Given the description of an element on the screen output the (x, y) to click on. 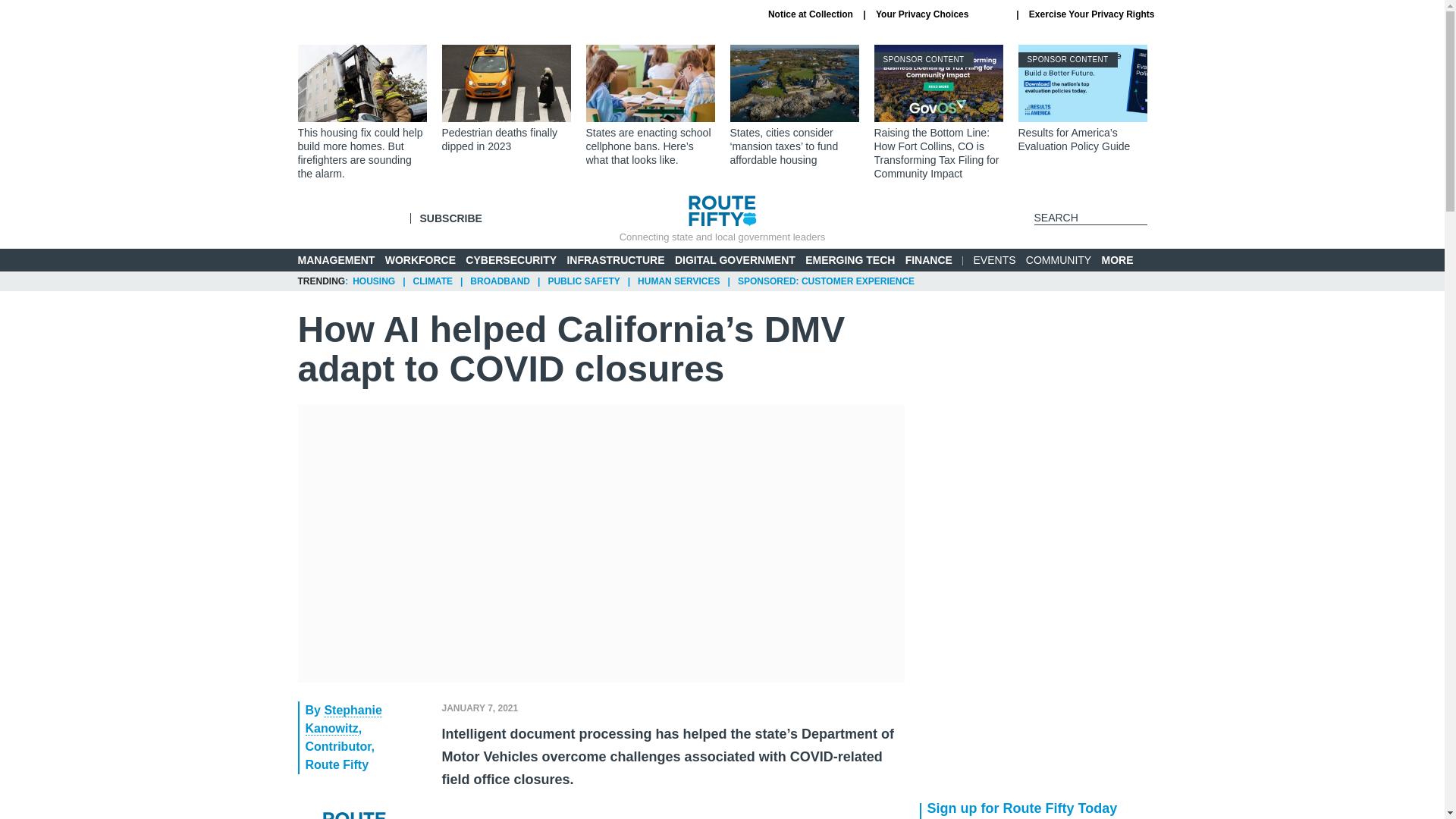
Notice at Collection (810, 14)
Pedestrian deaths finally dipped in 2023 (505, 99)
CYBERSECURITY (510, 259)
COMMUNITY (1058, 259)
EVENTS (995, 259)
MORE (1123, 260)
MANAGEMENT (335, 259)
INFRASTRUCTURE (614, 259)
EMERGING TECH (850, 259)
FINANCE (928, 259)
SUBSCRIBE (450, 218)
Exercise Your Privacy Rights (1091, 14)
